Given the description of an element on the screen output the (x, y) to click on. 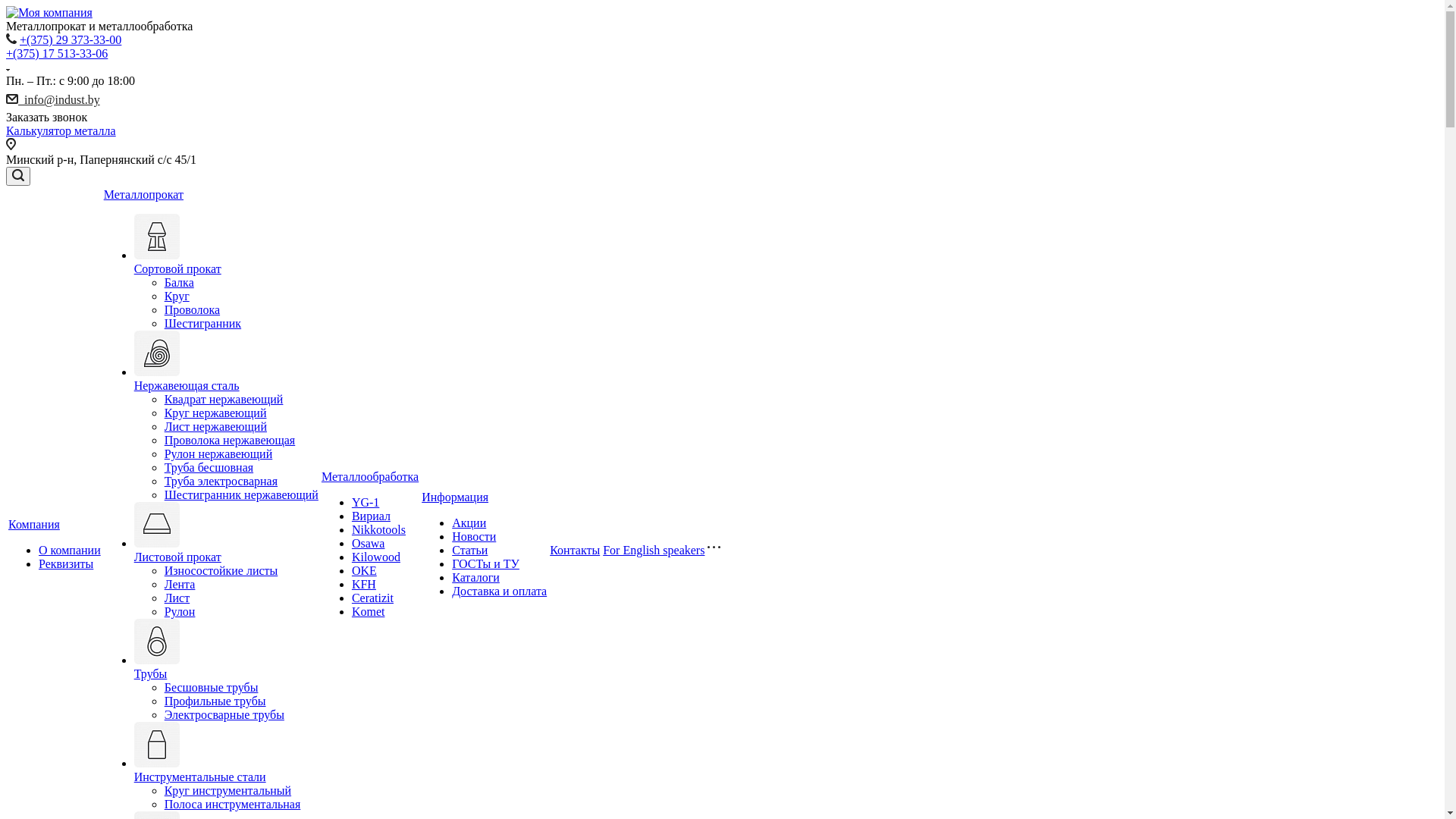
Nikkotools Element type: text (378, 529)
KFH Element type: text (363, 583)
Kilowood Element type: text (375, 556)
+(375) 17 513-33-06 Element type: text (56, 53)
Komet Element type: text (368, 611)
For English speakers Element type: text (653, 550)
+(375) 29 373-33-00 Element type: text (70, 39)
Osawa Element type: text (368, 542)
YG-1 Element type: text (365, 501)
OKE Element type: text (363, 570)
